Given the description of an element on the screen output the (x, y) to click on. 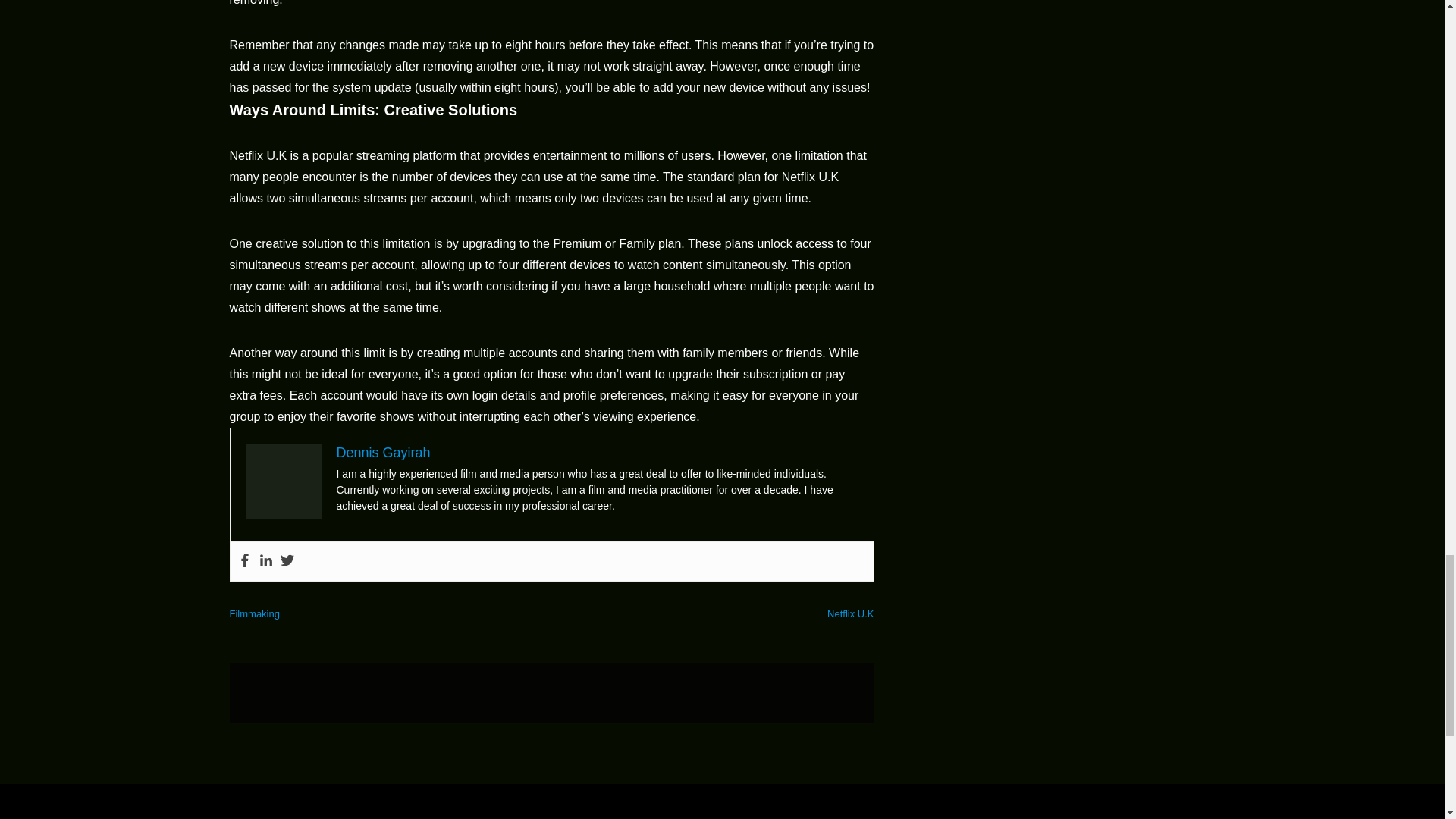
Filmmaking (253, 613)
Dennis Gayirah (383, 452)
Netflix U.K (850, 613)
